Given the description of an element on the screen output the (x, y) to click on. 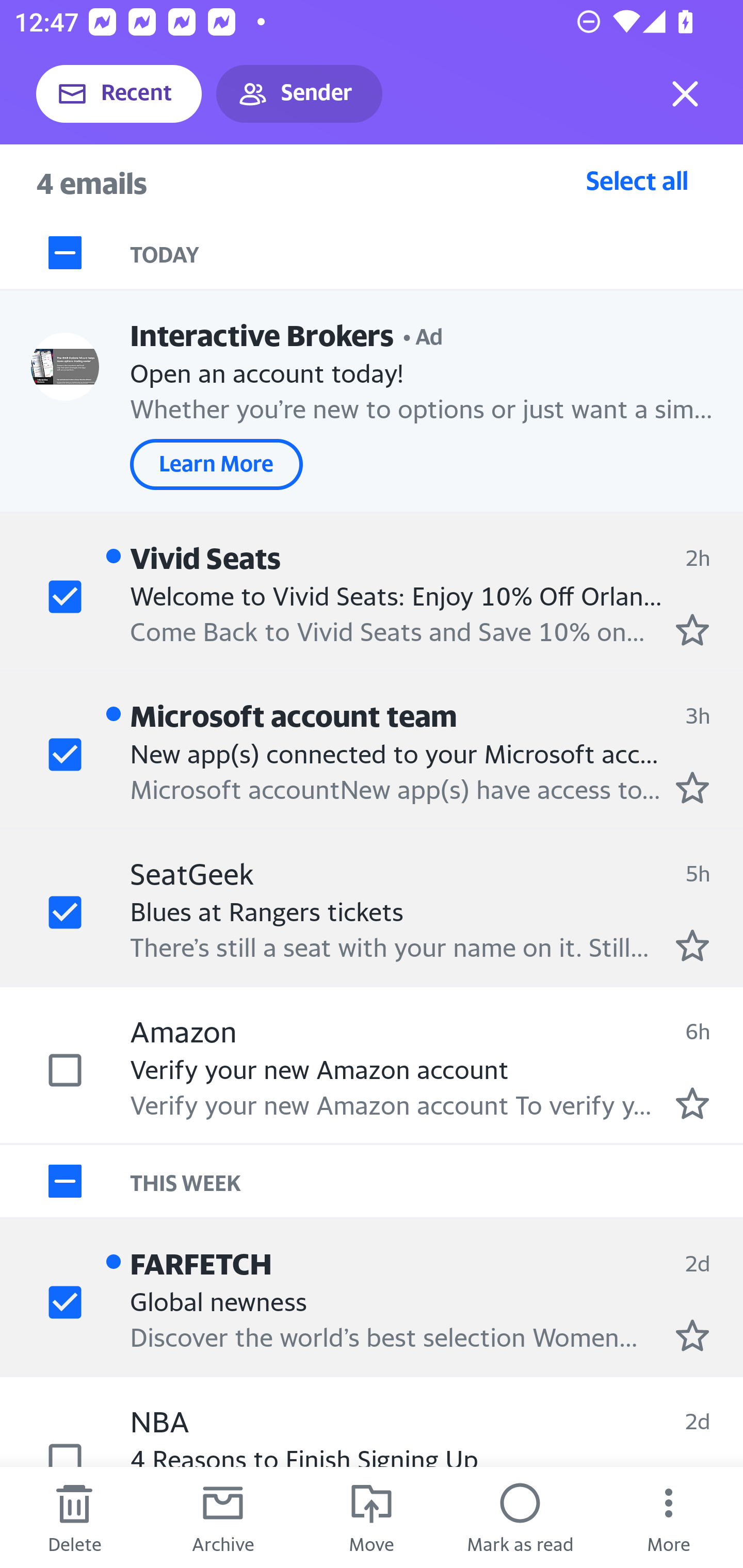
Sender (299, 93)
Exit selection mode (684, 93)
Select all (637, 180)
TODAY (436, 252)
Mark as starred. (692, 629)
Mark as starred. (692, 787)
Mark as starred. (692, 944)
Mark as starred. (692, 1103)
THIS WEEK (436, 1181)
Mark as starred. (692, 1335)
Delete (74, 1517)
Archive (222, 1517)
Move (371, 1517)
Mark as read (519, 1517)
More (668, 1517)
